Given the description of an element on the screen output the (x, y) to click on. 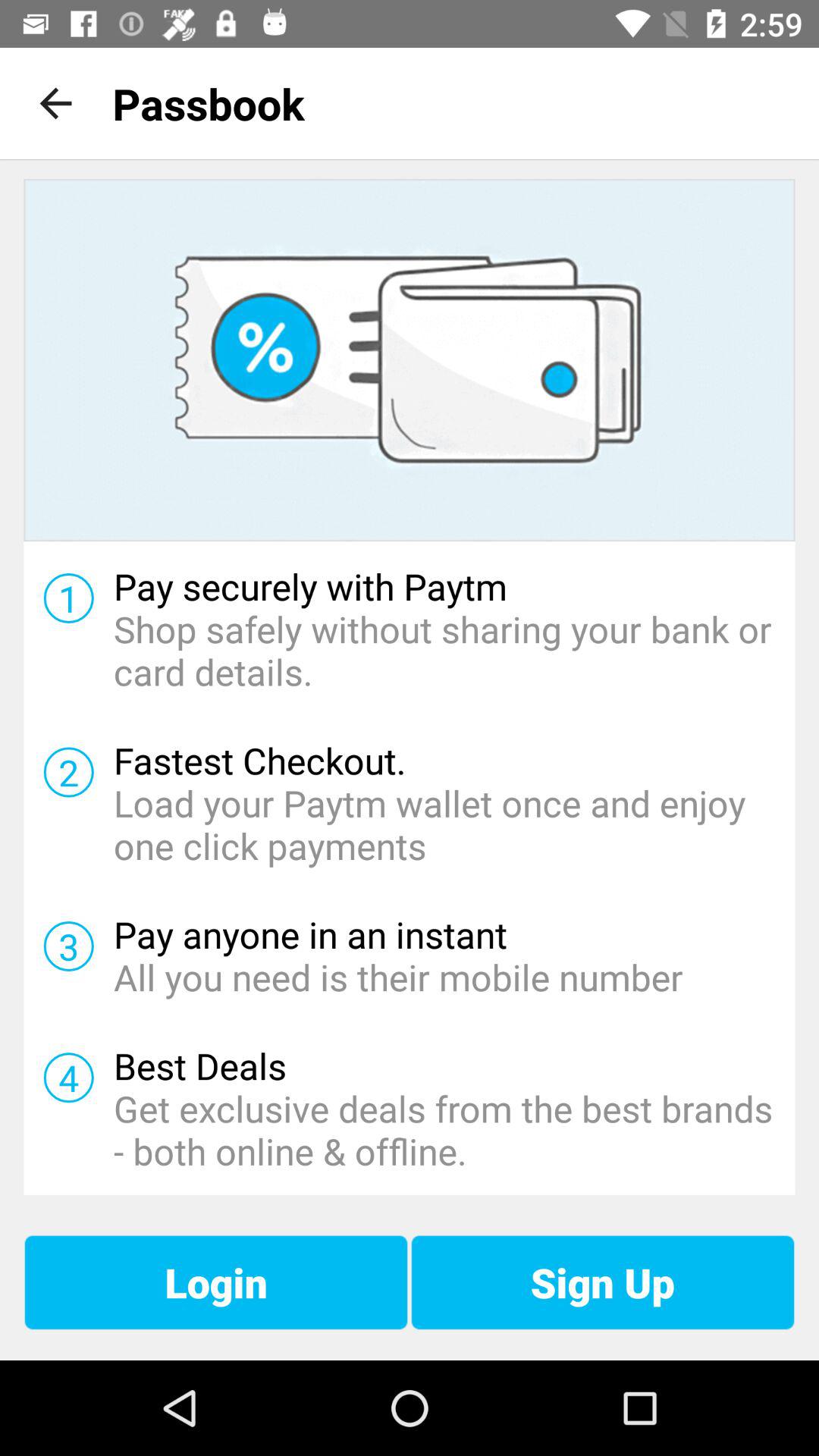
click icon below the best deals get (602, 1282)
